Given the description of an element on the screen output the (x, y) to click on. 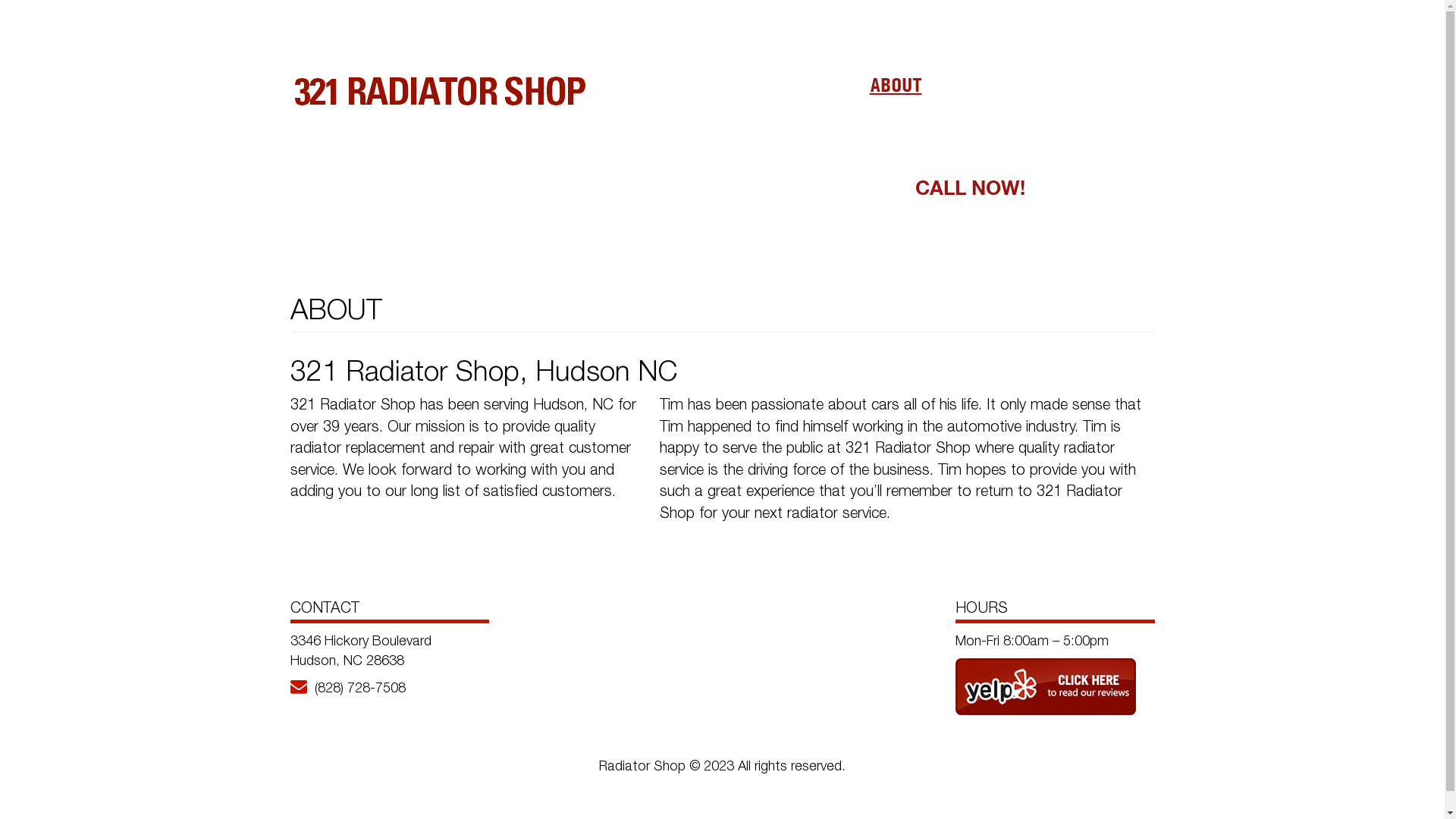
CONTACT US Element type: text (1097, 85)
ABOUT Element type: text (894, 85)
HOME Element type: text (816, 85)
SERVICES Element type: text (989, 85)
